Given the description of an element on the screen output the (x, y) to click on. 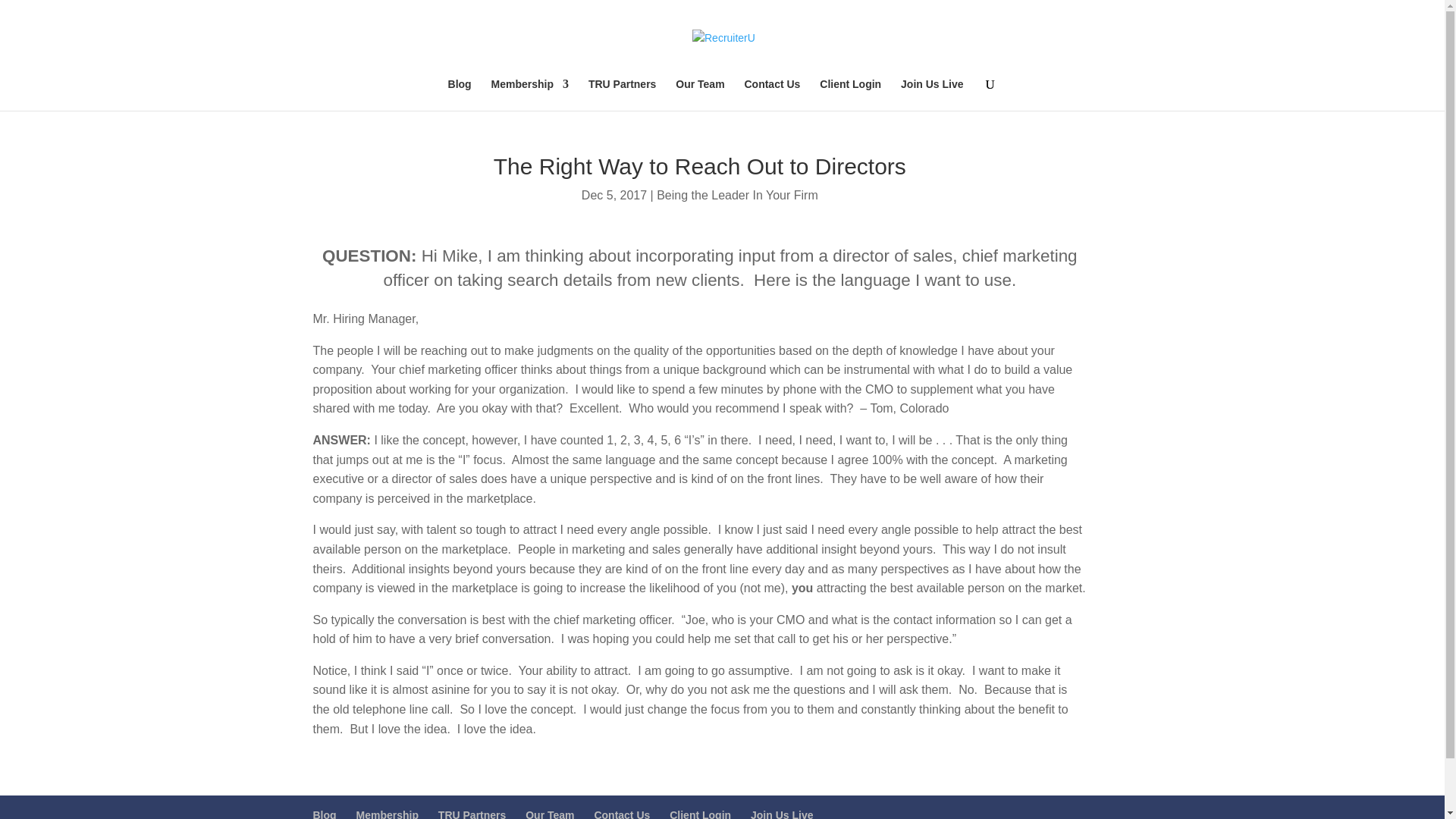
Join Us Live (931, 94)
Our Team (699, 94)
Client Login (849, 94)
TRU Partners (622, 94)
Membership (530, 94)
Contact Us (771, 94)
Being the Leader In Your Firm (737, 195)
